Given the description of an element on the screen output the (x, y) to click on. 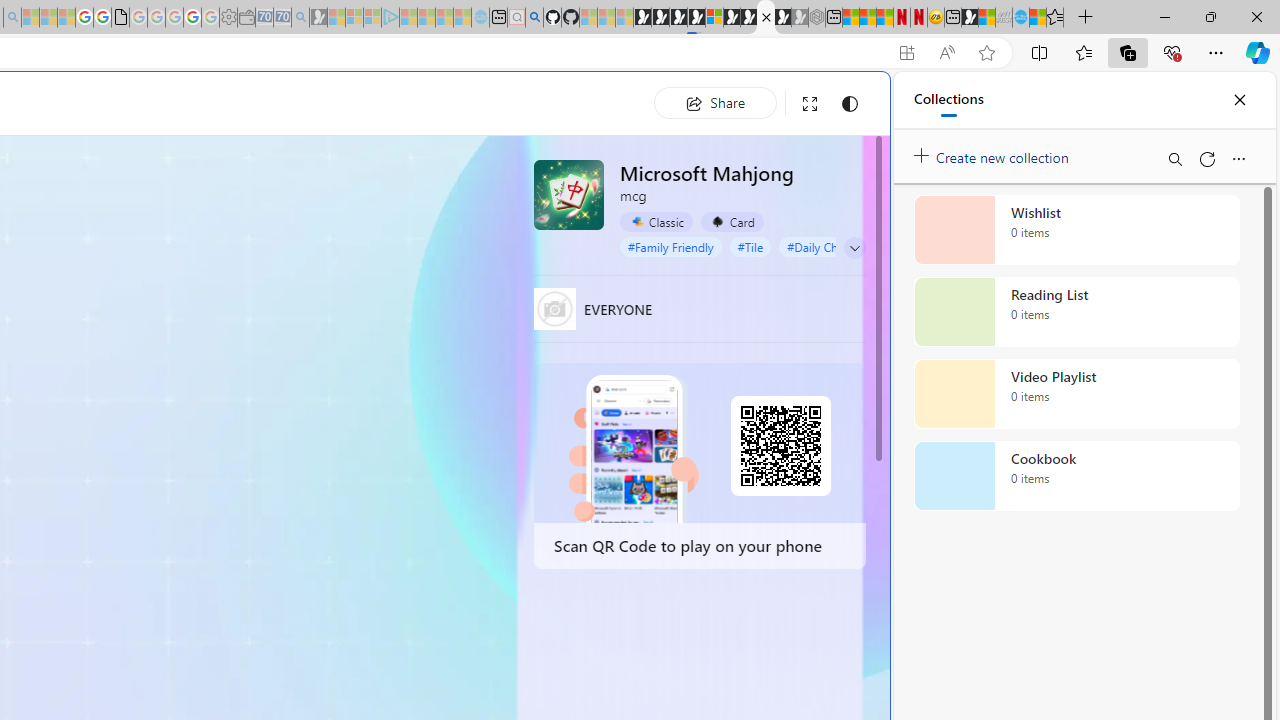
Services - Maintenance | Sky Blue Bikes - Sky Blue Bikes (1020, 17)
Tabs you've opened (276, 265)
Class: control (855, 248)
Create new collection (994, 153)
App available. Install Microsoft Mahjong (906, 53)
Search or enter web address (343, 191)
